Given the description of an element on the screen output the (x, y) to click on. 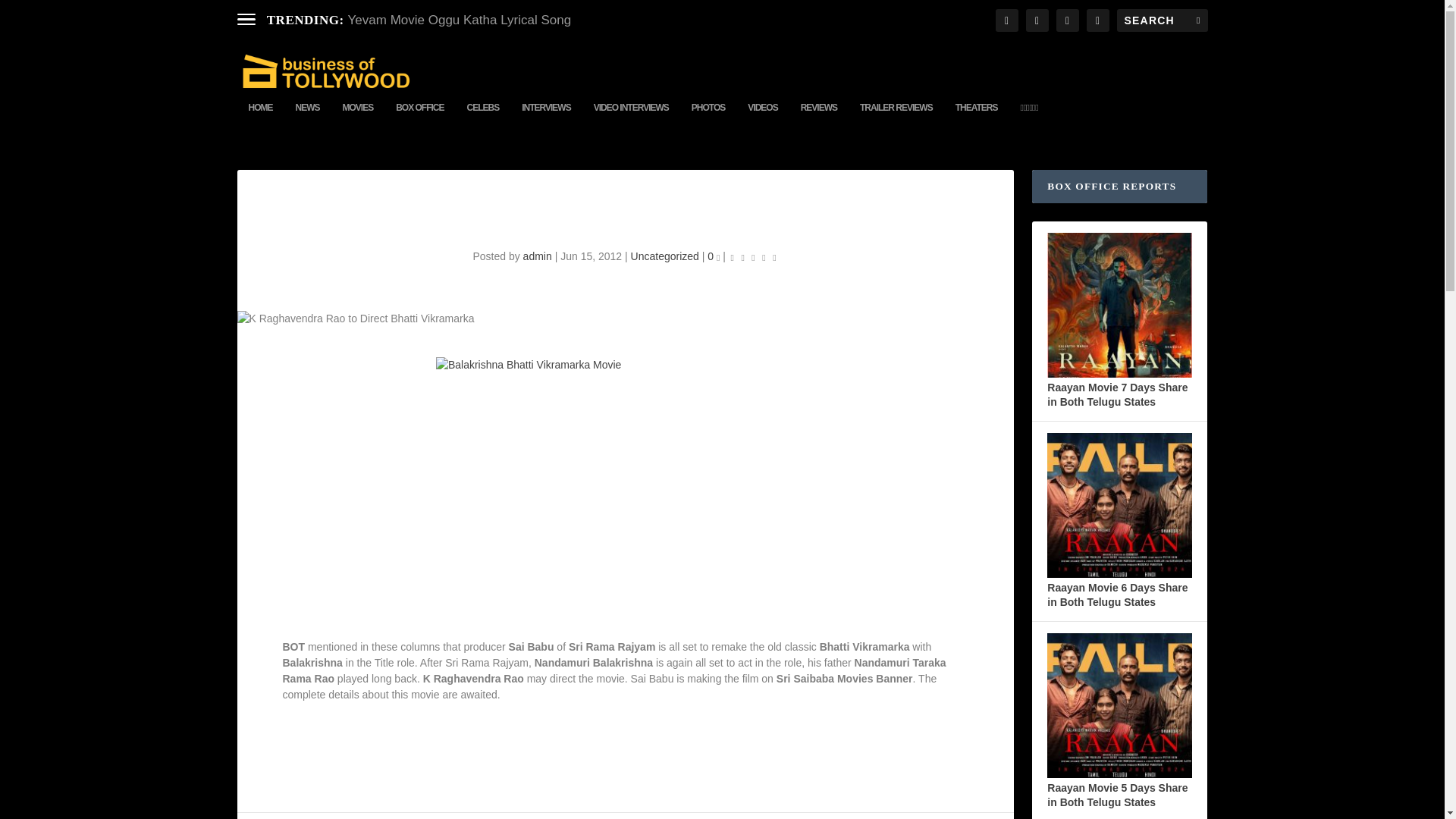
Balakrishna Bhatti Vikramarka (625, 489)
VIDEOS (762, 120)
MOVIES (358, 120)
NEWS (307, 120)
Rating: 0.00 (753, 256)
CELEBS (483, 120)
Search for: (1161, 20)
Posts by admin (536, 256)
HOME (260, 120)
BOX OFFICE (420, 120)
INTERVIEWS (545, 120)
VIDEO INTERVIEWS (631, 120)
TRAILER REVIEWS (896, 120)
REVIEWS (818, 120)
THEATERS (976, 120)
